Given the description of an element on the screen output the (x, y) to click on. 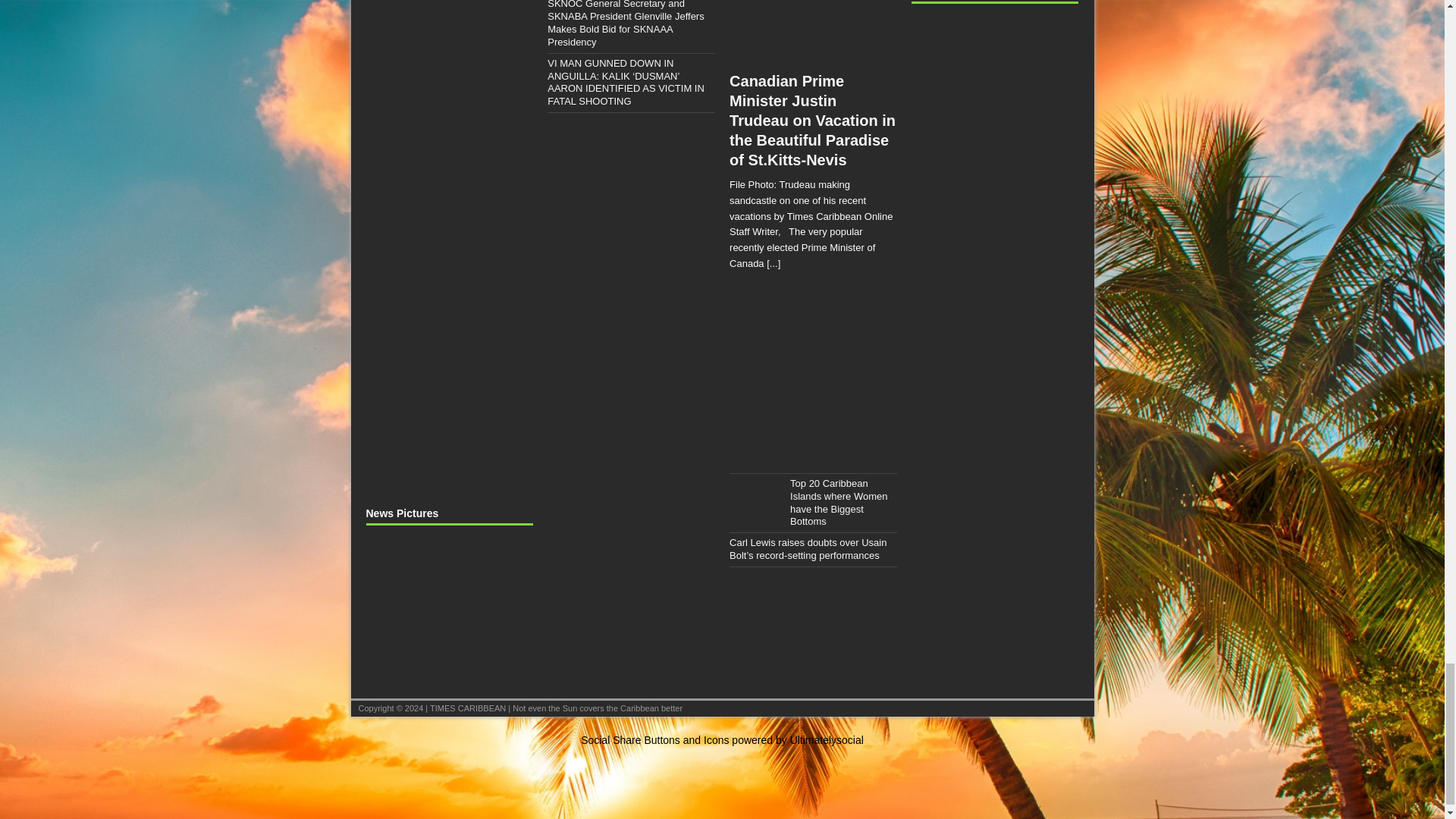
PEP trainees gain valuable experience at Public Works (448, 656)
